Given the description of an element on the screen output the (x, y) to click on. 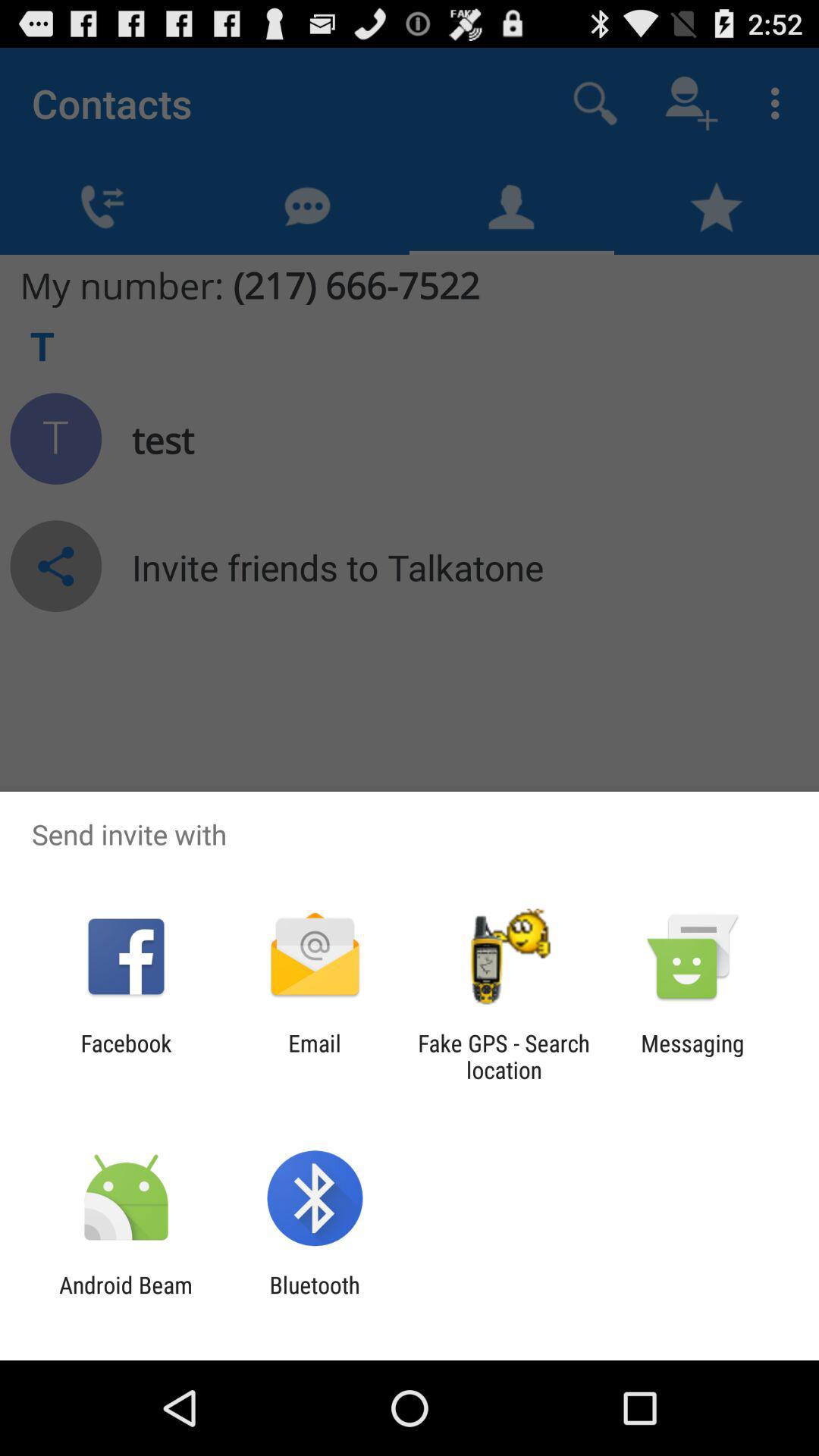
choose fake gps search item (503, 1056)
